Given the description of an element on the screen output the (x, y) to click on. 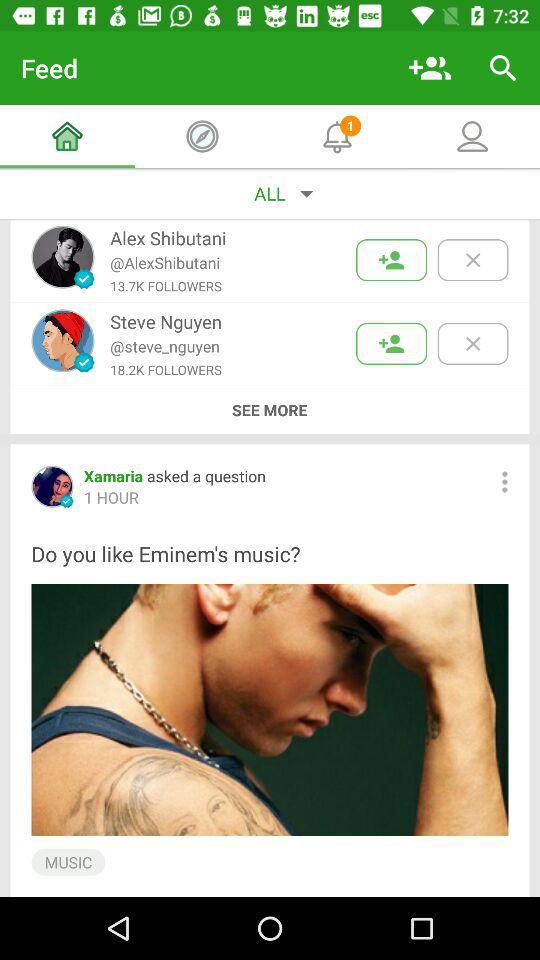
cancel (472, 260)
